Given the description of an element on the screen output the (x, y) to click on. 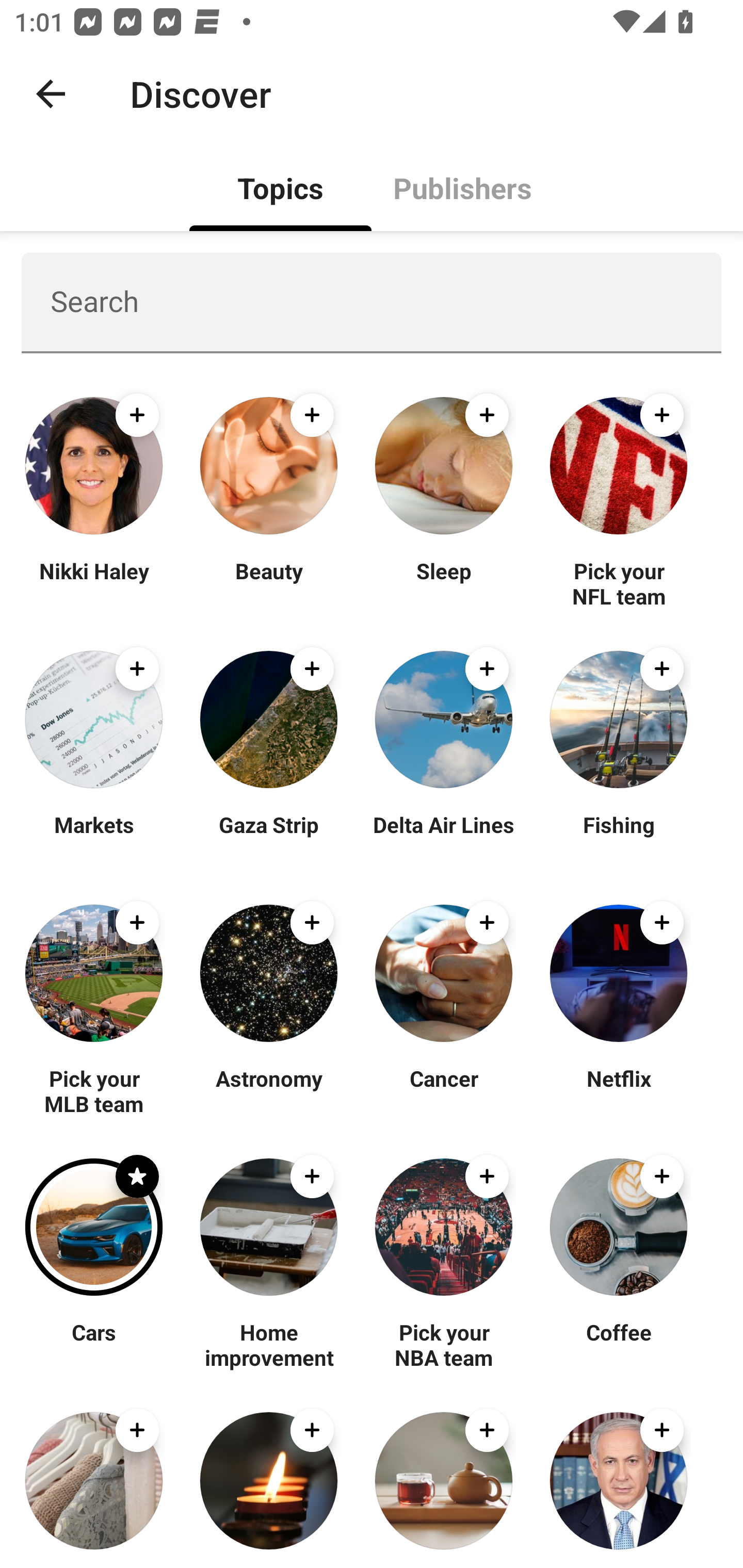
Publishers (462, 187)
Search (371, 302)
Nikki Haley (93, 582)
Beauty (268, 582)
Sleep (443, 582)
Pick your NFL team (618, 582)
Markets (93, 836)
Gaza Strip (268, 836)
Delta Air Lines (443, 836)
Fishing (618, 836)
Pick your MLB team (93, 1090)
Astronomy (268, 1090)
Cancer (443, 1090)
Netflix (618, 1090)
Cars (93, 1344)
Home improvement (268, 1344)
Pick your NBA team (443, 1344)
Coffee (618, 1344)
